Given the description of an element on the screen output the (x, y) to click on. 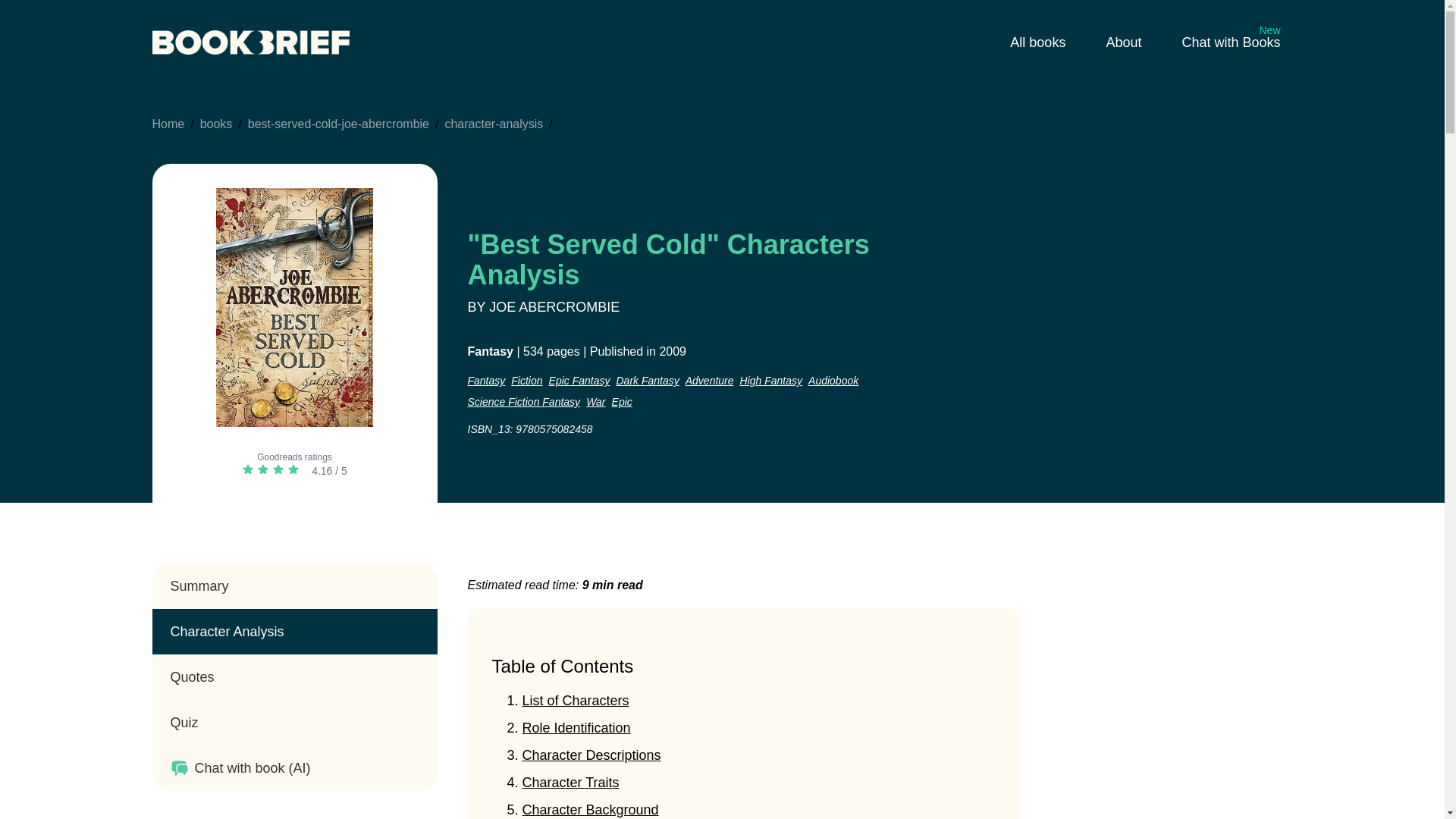
All books (1039, 42)
Fiction (526, 380)
Science Fiction Fantasy (523, 401)
Character Background (589, 809)
Quiz (293, 722)
High Fantasy (770, 380)
Audiobook (833, 380)
Fantasy (489, 350)
best-served-cold-joe-abercrombie (338, 124)
War (595, 401)
Fantasy (486, 380)
Character Traits (569, 782)
Home (167, 124)
Adventure (709, 380)
Character Analysis (293, 631)
